Given the description of an element on the screen output the (x, y) to click on. 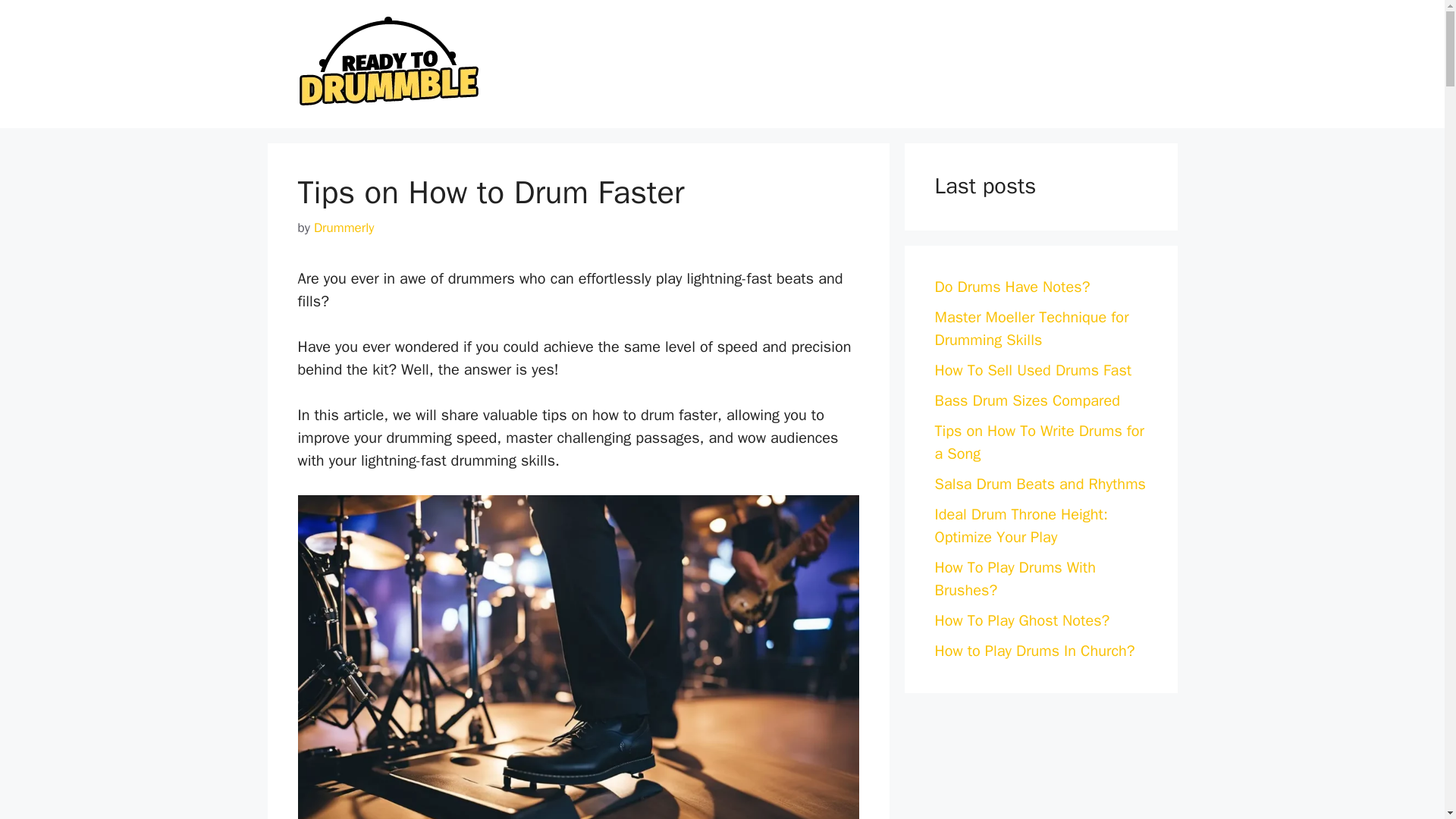
View all posts by Drummerly (344, 227)
Ideal Drum Throne Height: Optimize Your Play (1020, 526)
How To Sell Used Drums Fast (1032, 370)
Do Drums Have Notes? (1011, 286)
Tips on How To Write Drums for a Song (1038, 442)
Master Moeller Technique for Drumming Skills (1031, 328)
How to Play Drums In Church? (1034, 650)
Drummerly (344, 227)
How To Play Ghost Notes? (1021, 619)
Salsa Drum Beats and Rhythms (1039, 484)
